Given the description of an element on the screen output the (x, y) to click on. 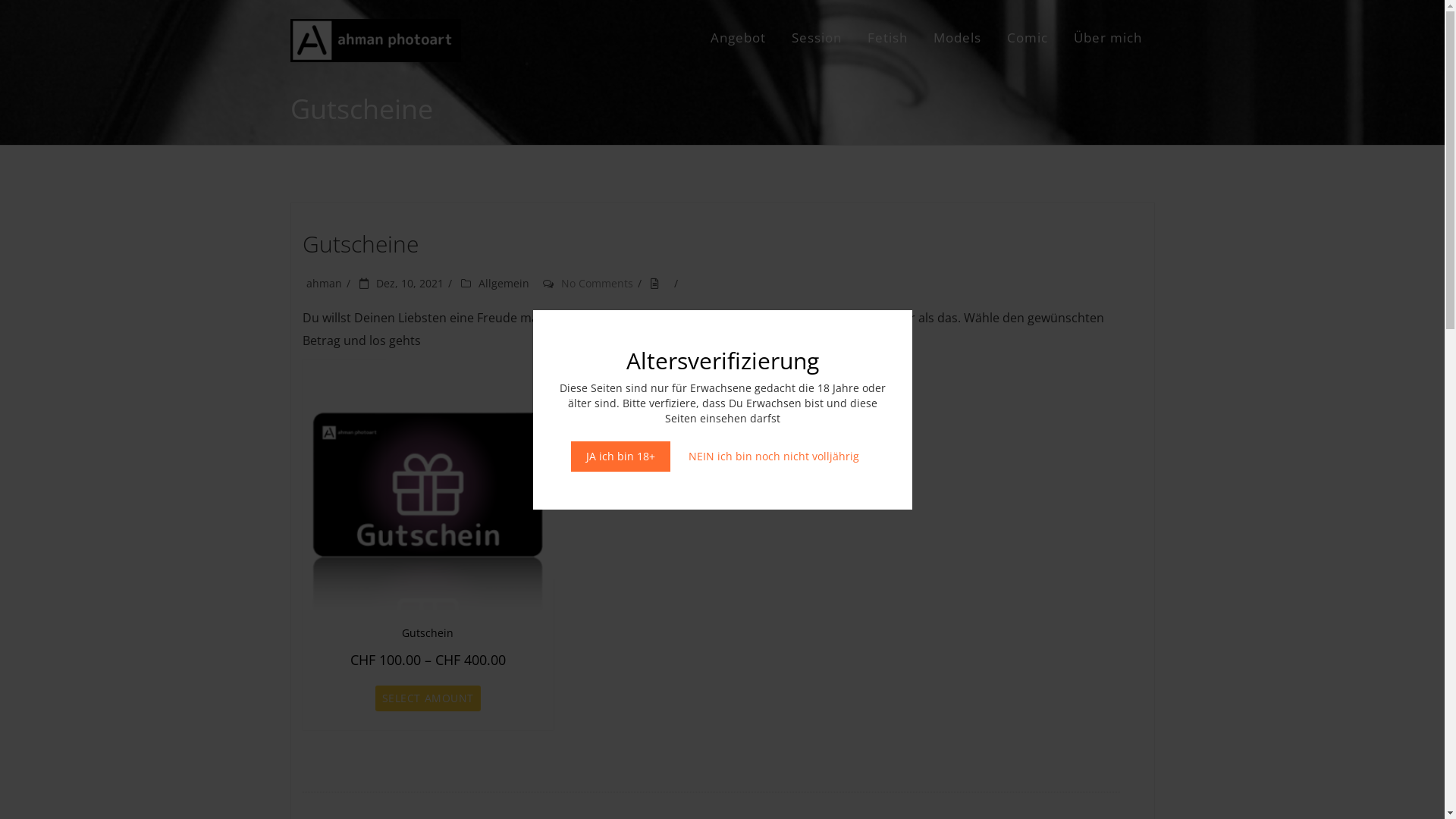
Fetish Element type: text (887, 37)
Permanent Link to Gutscheine Element type: hover (659, 283)
Allgemein Element type: text (502, 283)
Angebot Element type: text (737, 37)
ahman Element type: text (324, 283)
SELECT AMOUNT Element type: text (427, 698)
JA ich bin 18+ Element type: text (619, 456)
Comic Element type: text (1027, 37)
Models Element type: text (956, 37)
No Comments Element type: text (597, 283)
Session Element type: text (816, 37)
